Given the description of an element on the screen output the (x, y) to click on. 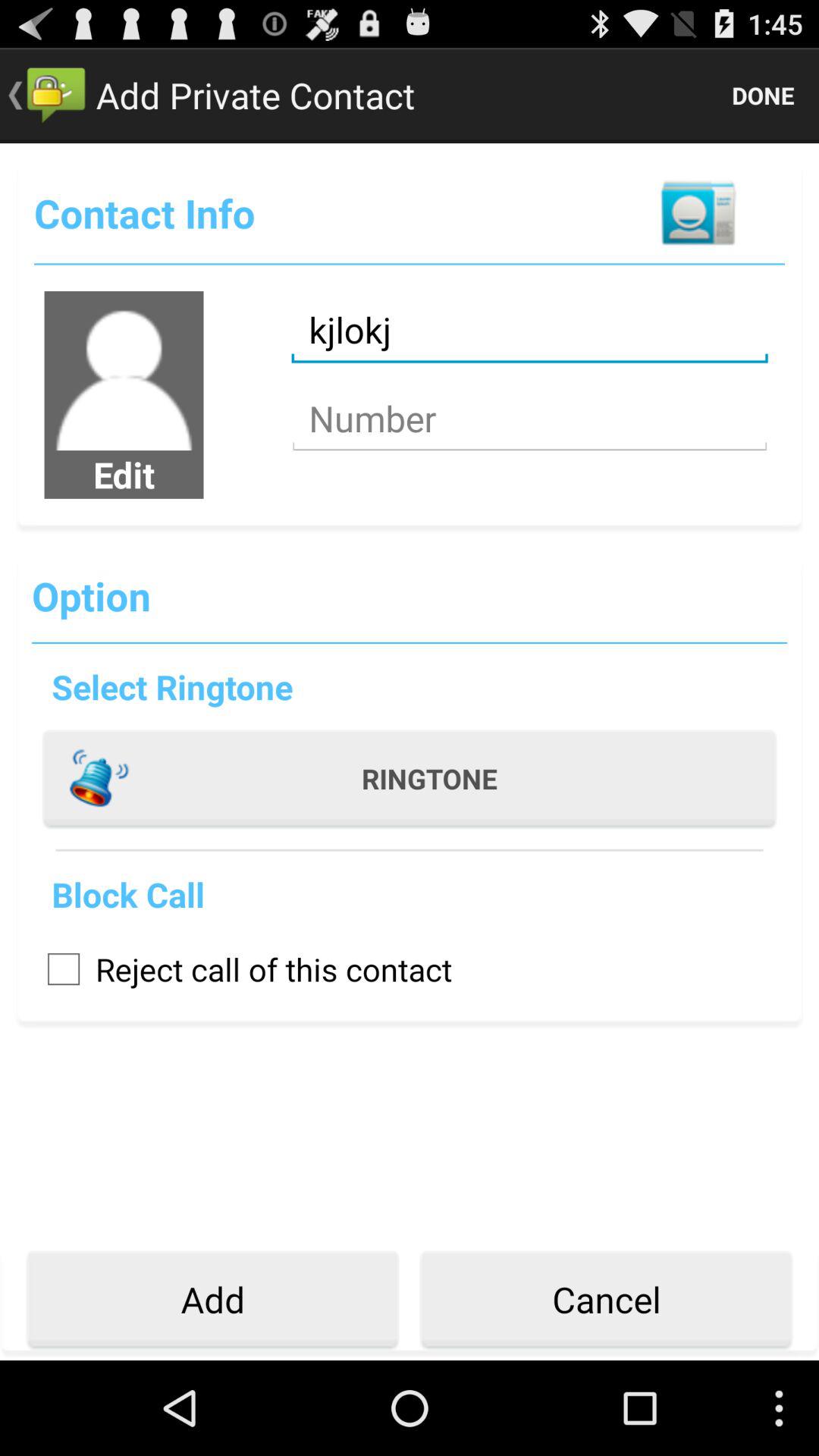
open item below the done (697, 213)
